Given the description of an element on the screen output the (x, y) to click on. 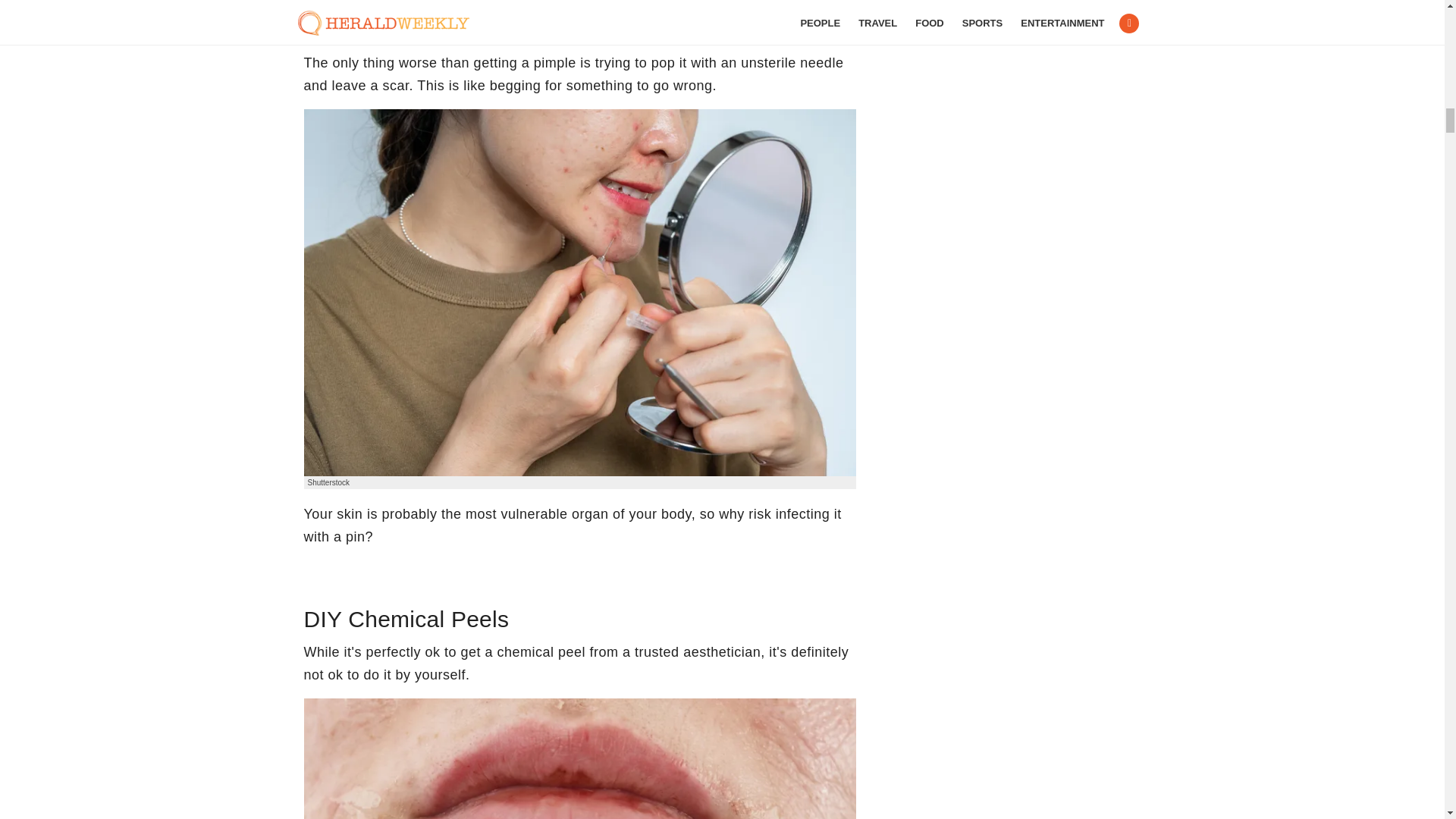
DIY Chemical Peels (579, 758)
